Given the description of an element on the screen output the (x, y) to click on. 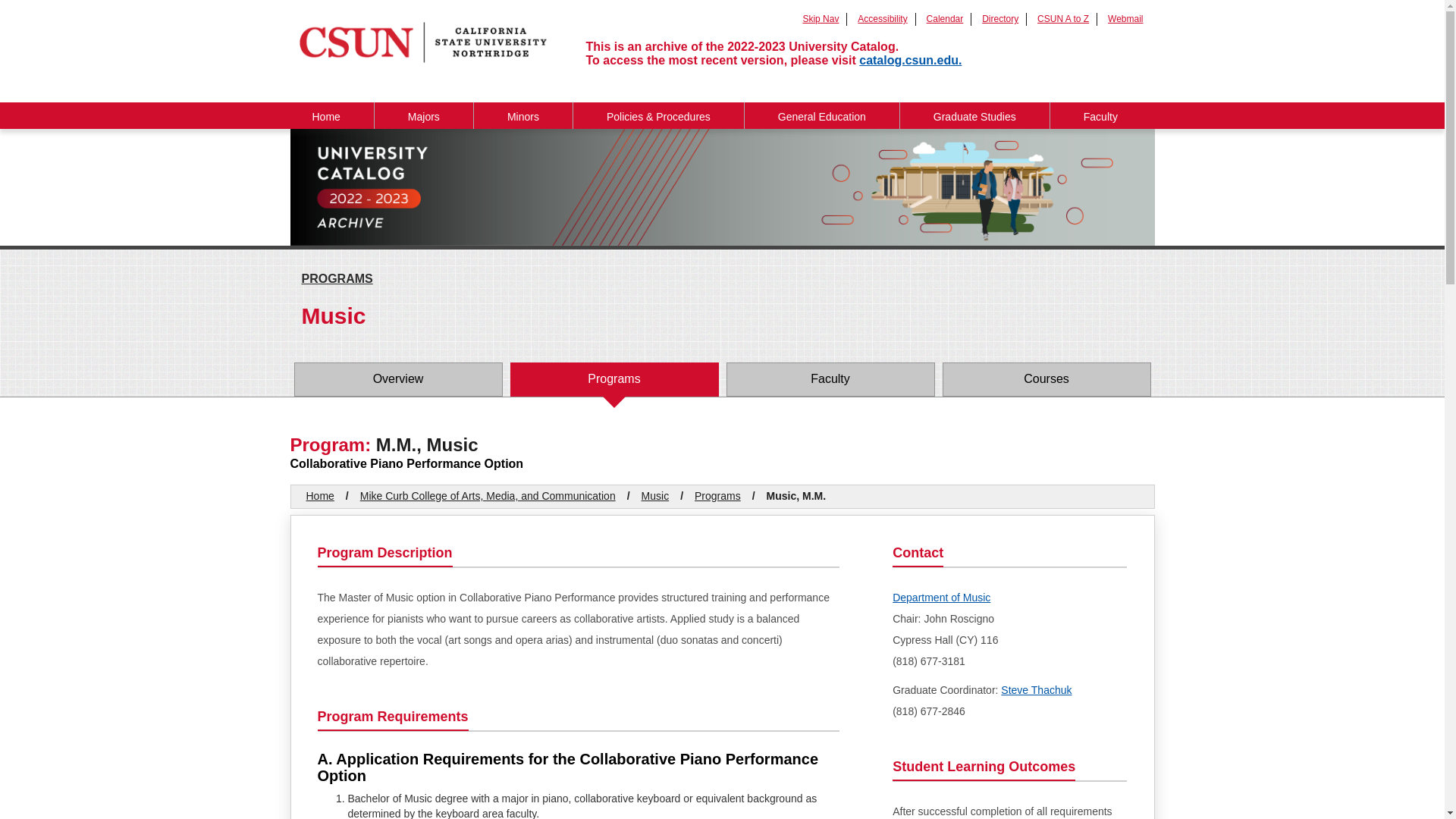
catalog.csun.edu. (909, 60)
Webmail (1125, 18)
Courses (1046, 379)
Programs (717, 495)
Overview (398, 379)
Music (655, 495)
CSUN A to Z (1062, 18)
Mike Curb College of Arts, Media, and Communication (487, 495)
Skip Nav (820, 18)
Home (319, 495)
Directory (999, 18)
Majors (423, 115)
Faculty (830, 379)
Graduate Studies (974, 115)
General Education (821, 115)
